Given the description of an element on the screen output the (x, y) to click on. 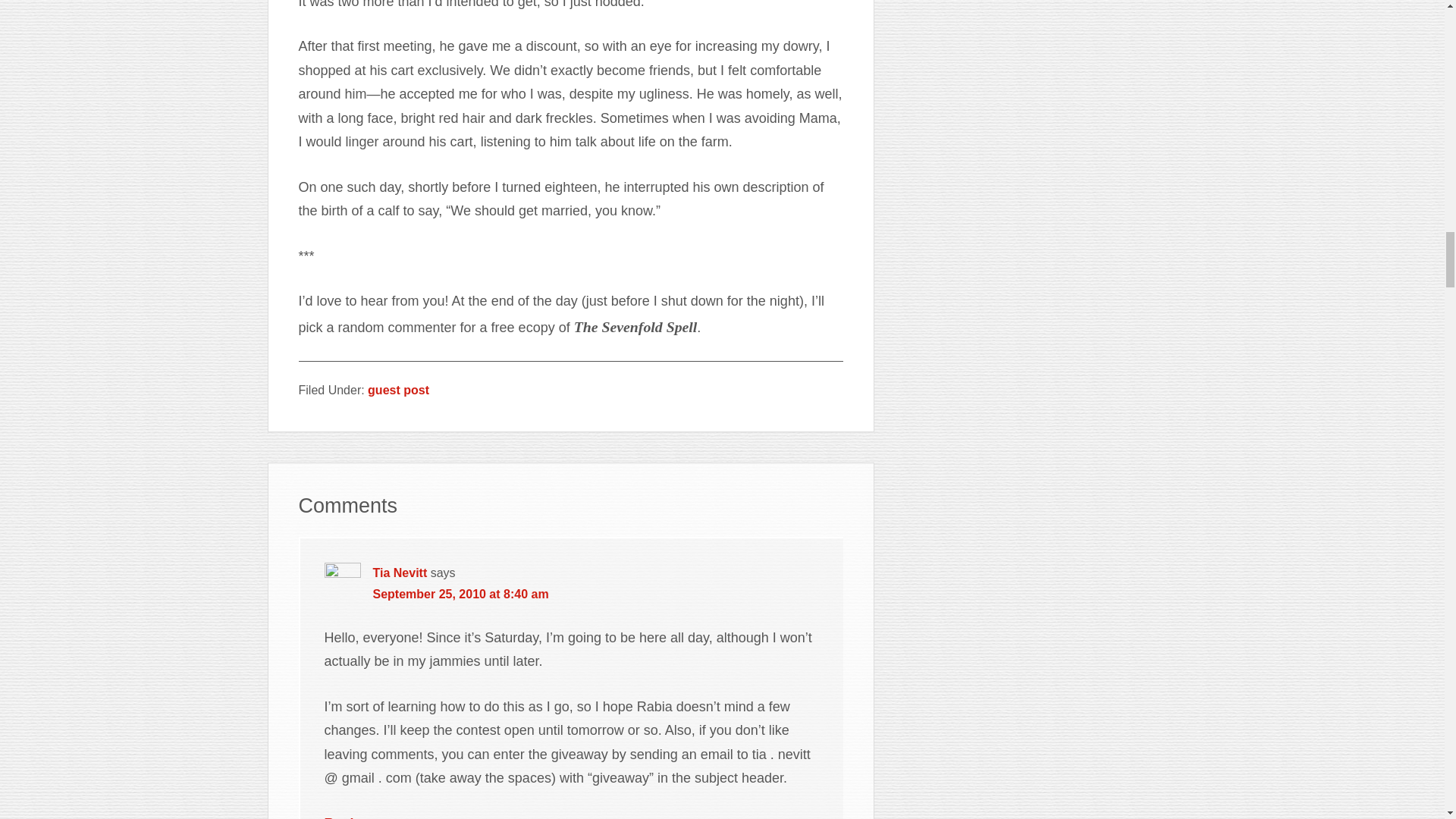
Tia Nevitt (400, 572)
guest post (398, 390)
September 25, 2010 at 8:40 am (460, 594)
Reply (342, 817)
